Given the description of an element on the screen output the (x, y) to click on. 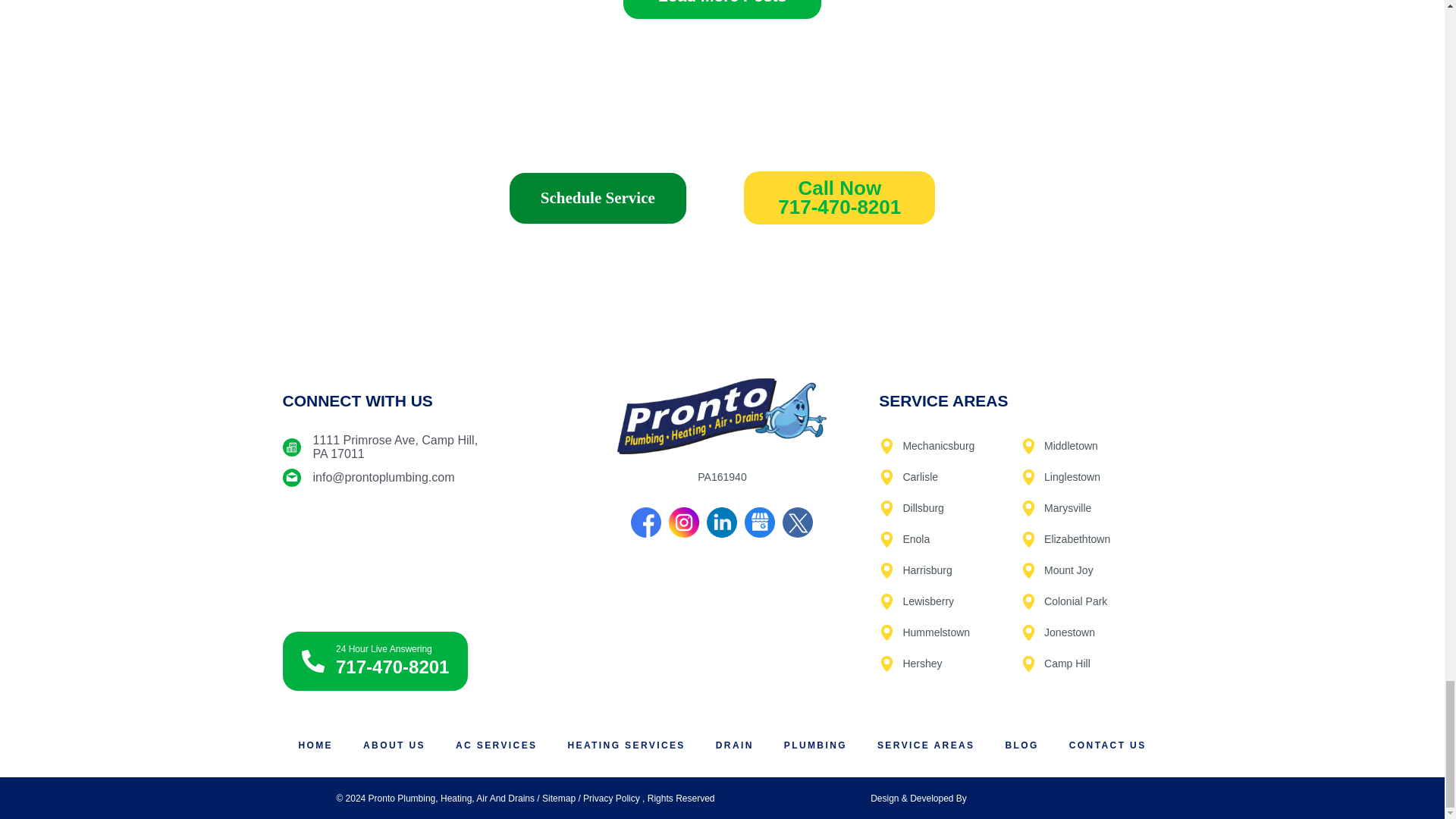
Pronto Plumbing (423, 554)
